Given the description of an element on the screen output the (x, y) to click on. 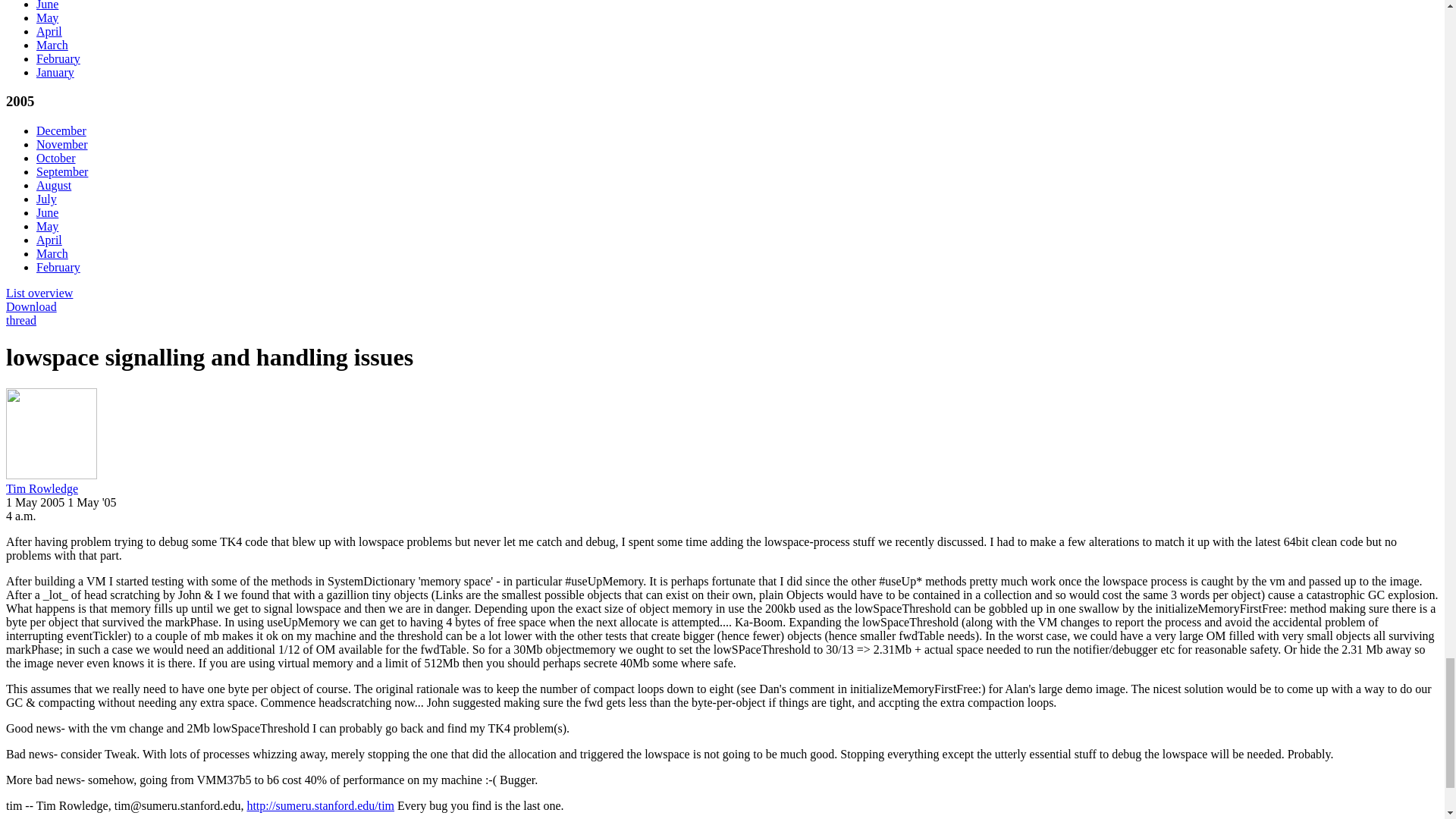
Sender's time: April 30, 2005, 7 p.m. (20, 515)
See the profile for Tim Rowledge (41, 488)
This message in gzipped mbox format (30, 306)
